Given the description of an element on the screen output the (x, y) to click on. 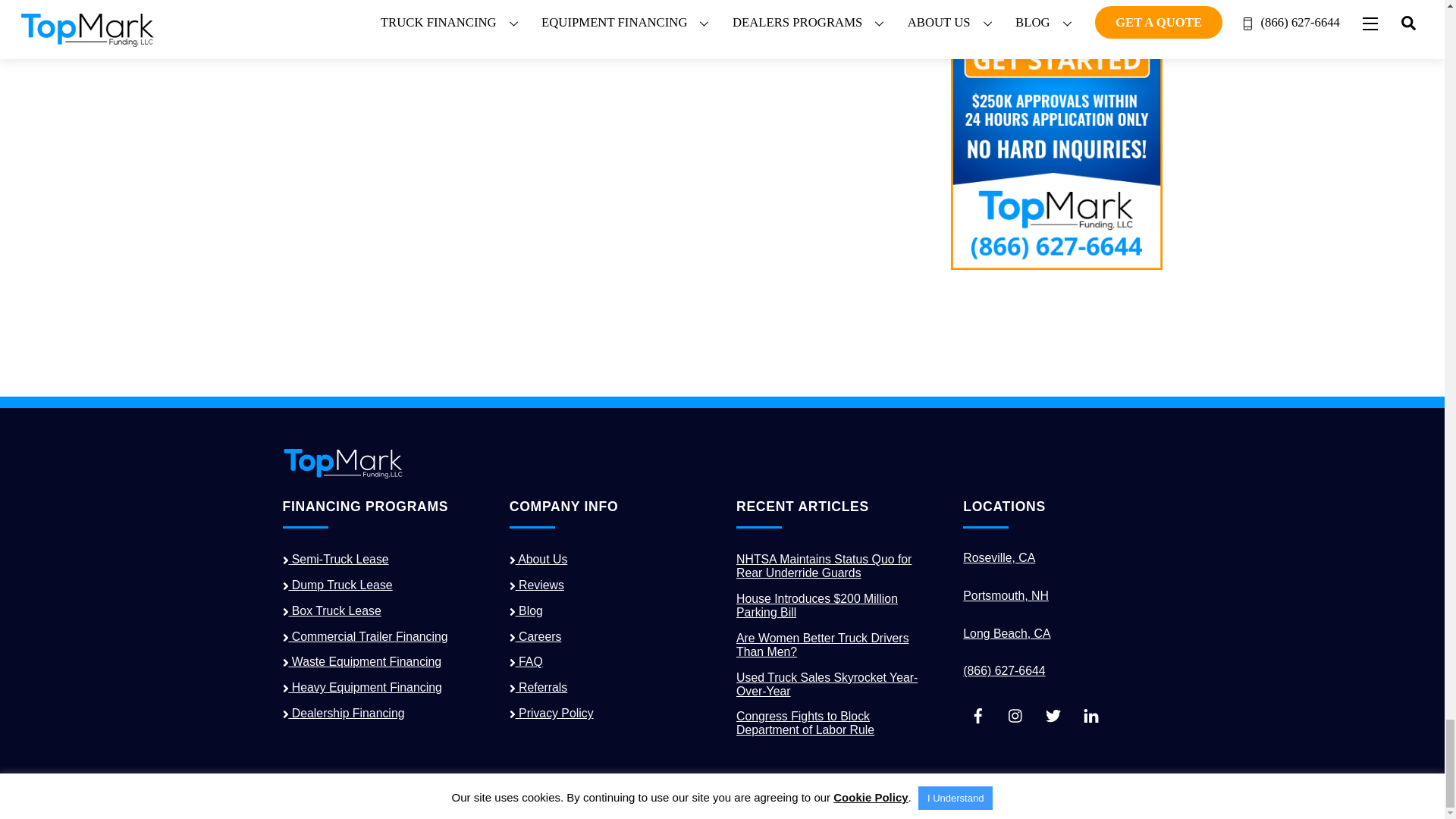
TopMark Funding (342, 472)
